Given the description of an element on the screen output the (x, y) to click on. 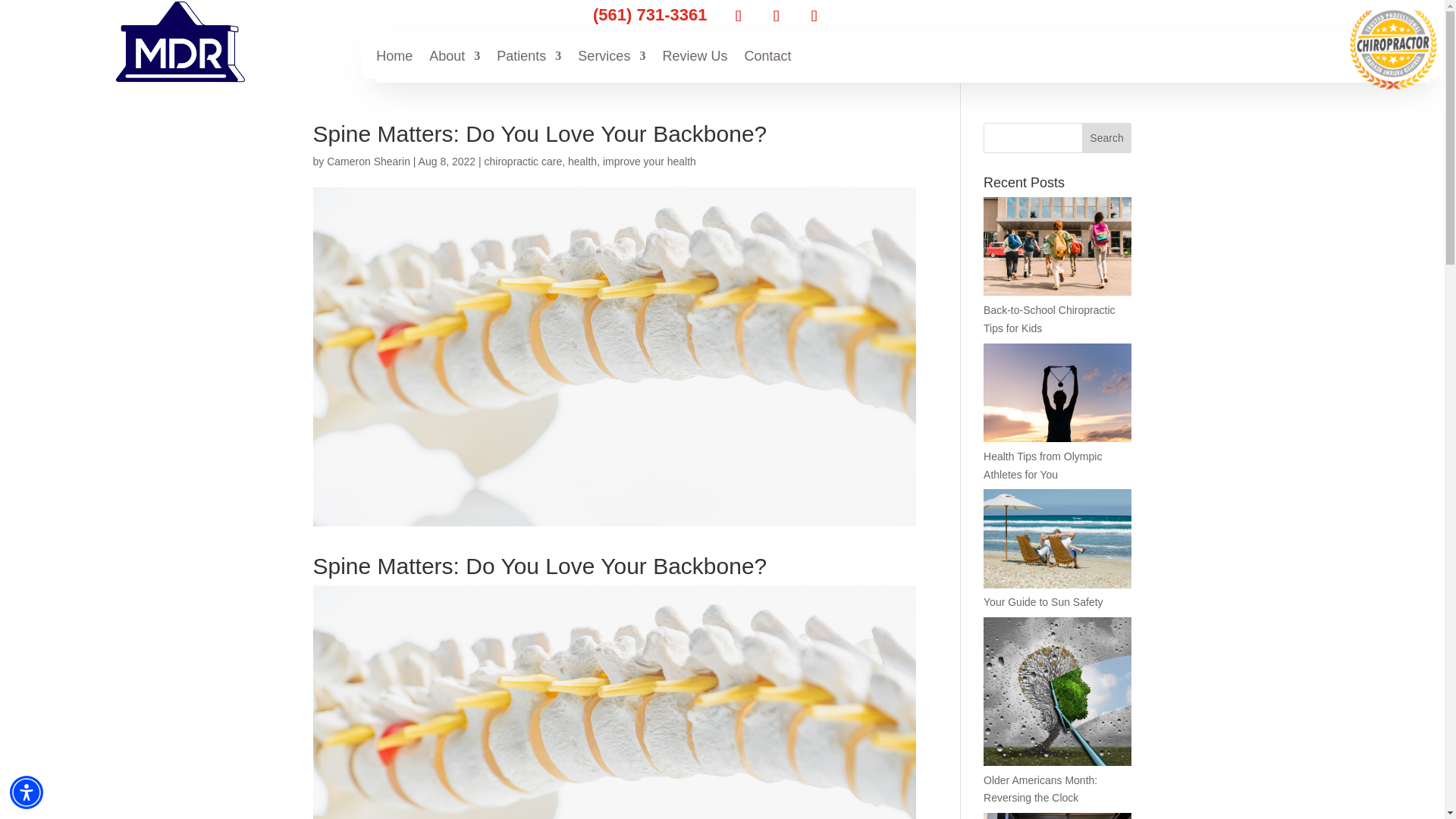
Patients (528, 58)
Home (393, 58)
Follow on Twitter (776, 15)
Posts by Cameron Shearin (368, 161)
Follow on Youtube (813, 15)
About (454, 58)
Services (611, 58)
Follow on Facebook (738, 15)
Search (1106, 137)
